Given the description of an element on the screen output the (x, y) to click on. 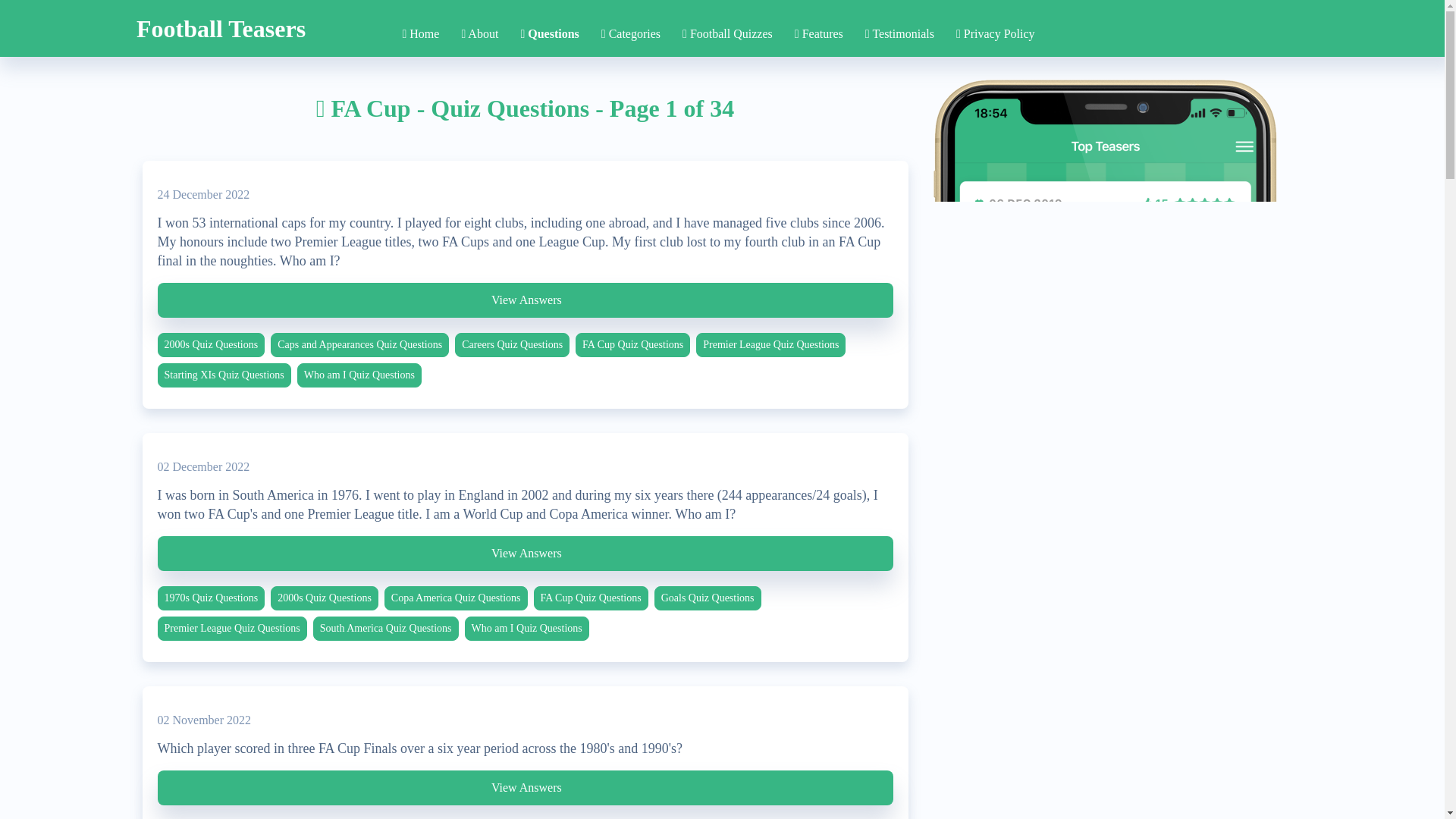
Premier League Quiz Questions (232, 628)
1970s Quiz Questions (210, 598)
South America Quiz Questions (385, 628)
FA Cup Quiz Questions (632, 344)
Football Quizzes (727, 33)
View Answers (525, 553)
Home (420, 33)
Privacy Policy (995, 33)
Starting XIs Quiz Questions (224, 375)
Questions (548, 33)
2000s Quiz Questions (324, 598)
FA Cup Quiz Questions (590, 598)
Who am I Quiz Questions (526, 628)
Testimonials (899, 33)
Football Teasers (220, 21)
